Given the description of an element on the screen output the (x, y) to click on. 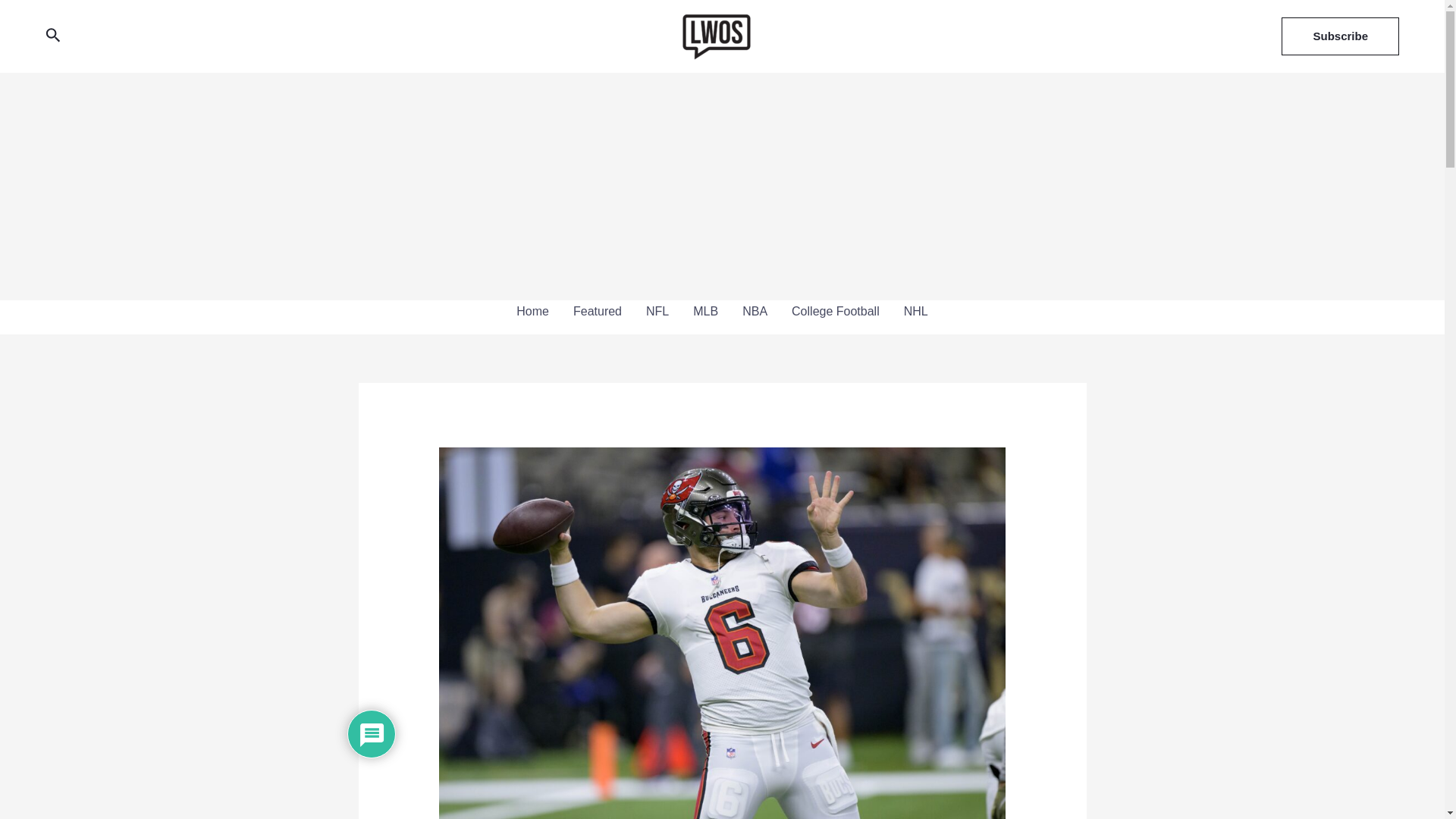
NBA (754, 311)
NFL (657, 311)
Subscribe (1340, 36)
College Football (834, 311)
MLB (705, 311)
Featured (596, 311)
Home (531, 311)
NHL (915, 311)
